Given the description of an element on the screen output the (x, y) to click on. 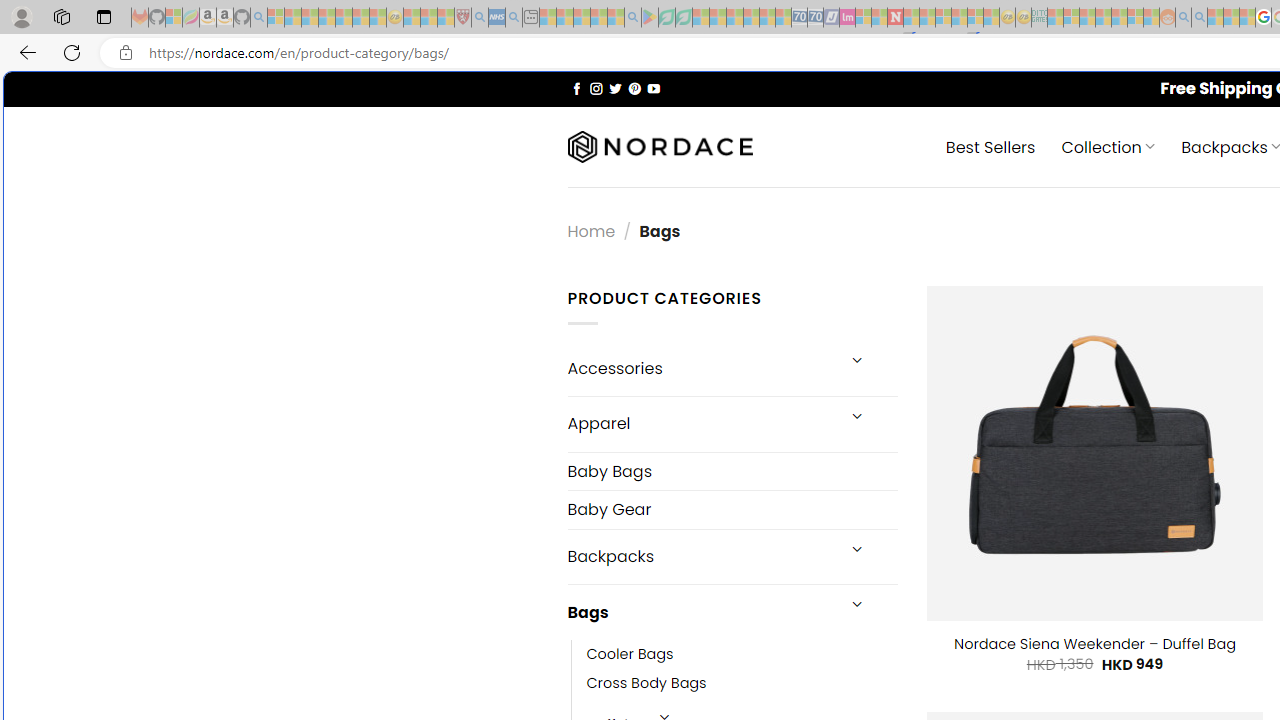
Baby Gear (732, 510)
Follow on Twitter (615, 88)
Baby Bags (732, 471)
Baby Gear (732, 509)
